Given the description of an element on the screen output the (x, y) to click on. 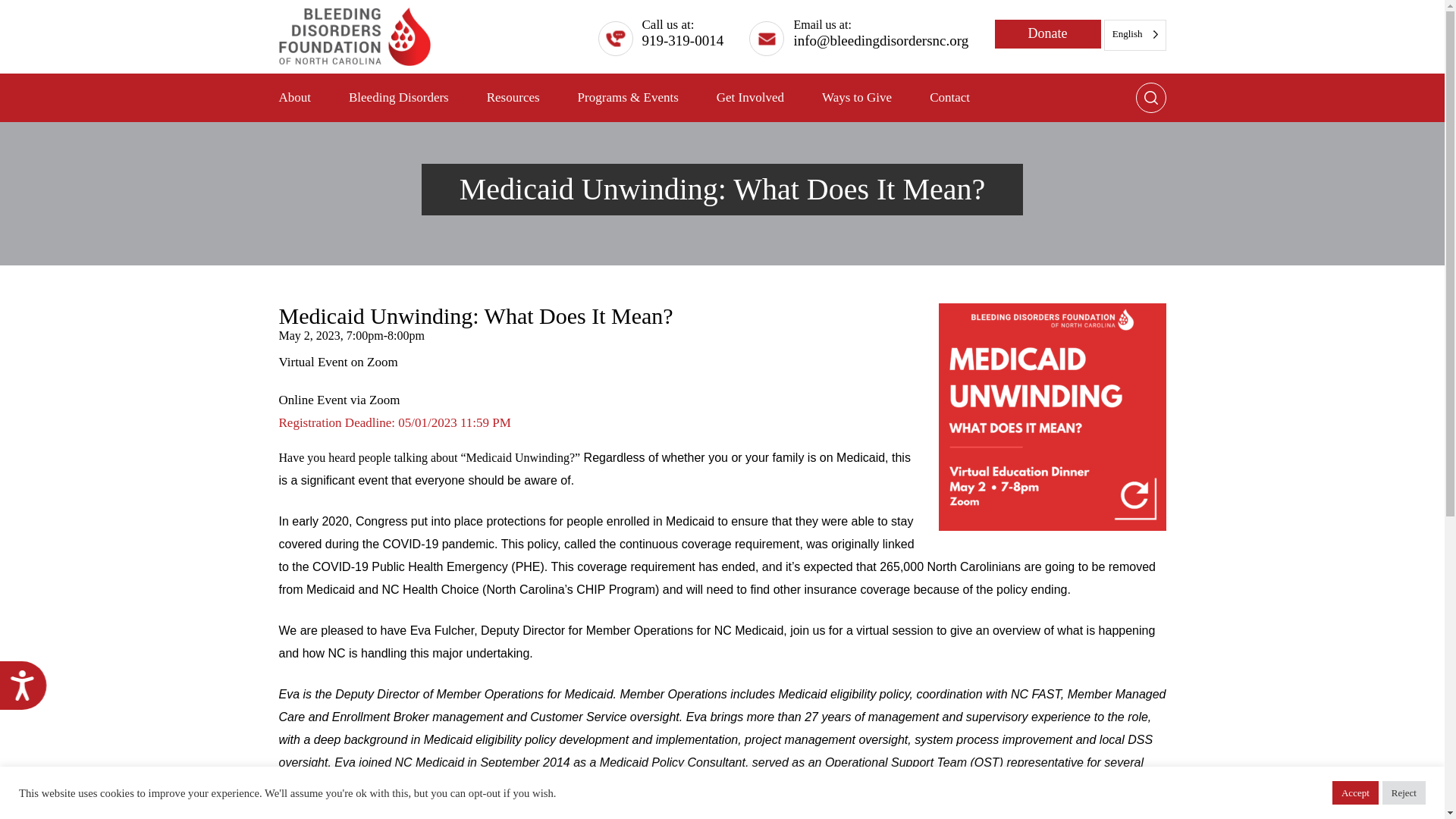
Donate (1047, 33)
Bleeding Disorders (398, 97)
Resources (513, 97)
Accessibility (29, 690)
